Given the description of an element on the screen output the (x, y) to click on. 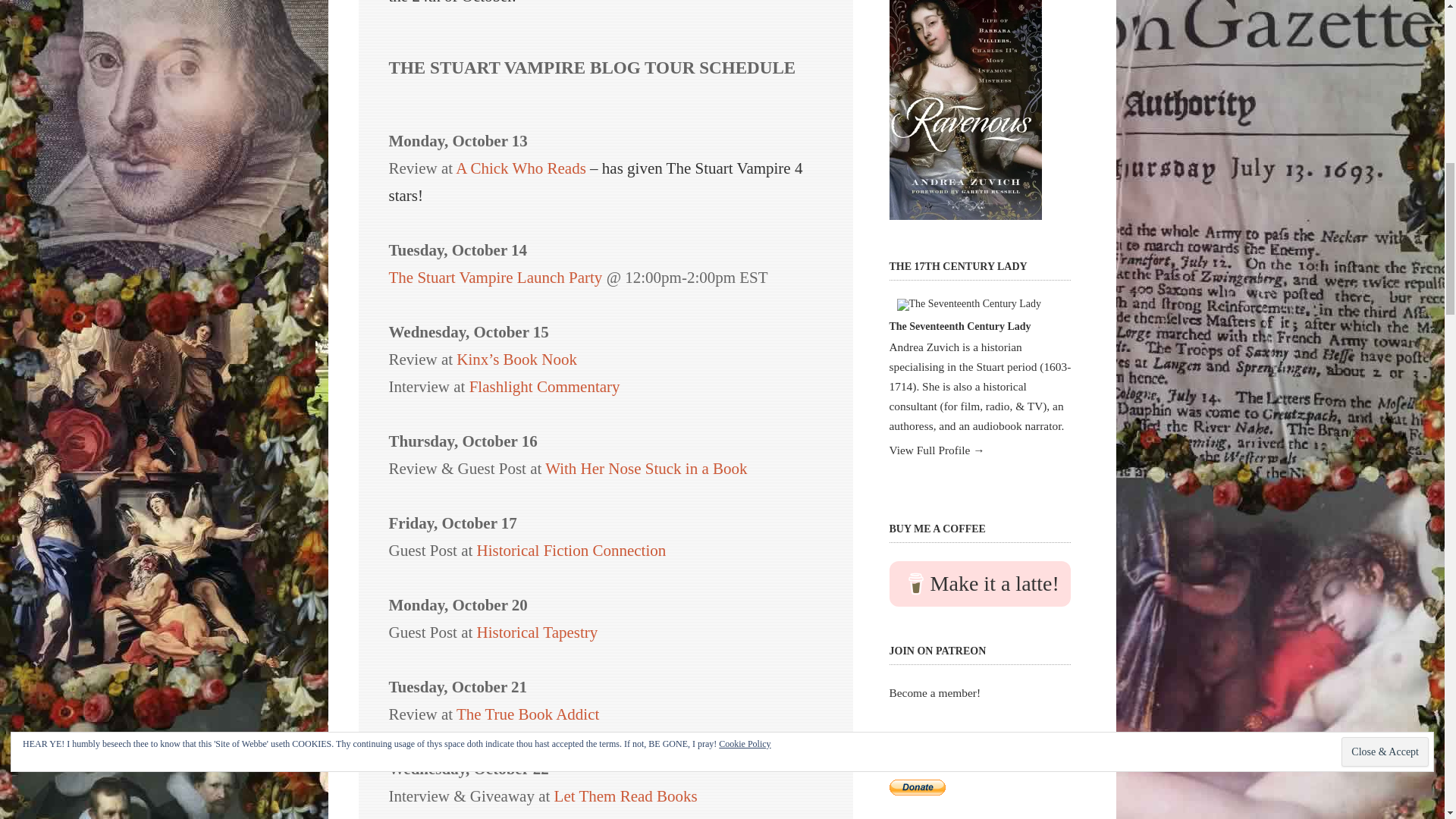
The Stuart Vampire Launch Party (495, 277)
Historical Fiction Connection (571, 550)
Historical Tapestry (537, 632)
Let Them Read Books (625, 796)
The True Book Addict (527, 714)
PayPal - The safer, easier way to pay online! (916, 787)
A Chick Who Reads (520, 167)
With Her Nose Stuck in a Book (645, 468)
Flashlight Commentary (544, 386)
